Given the description of an element on the screen output the (x, y) to click on. 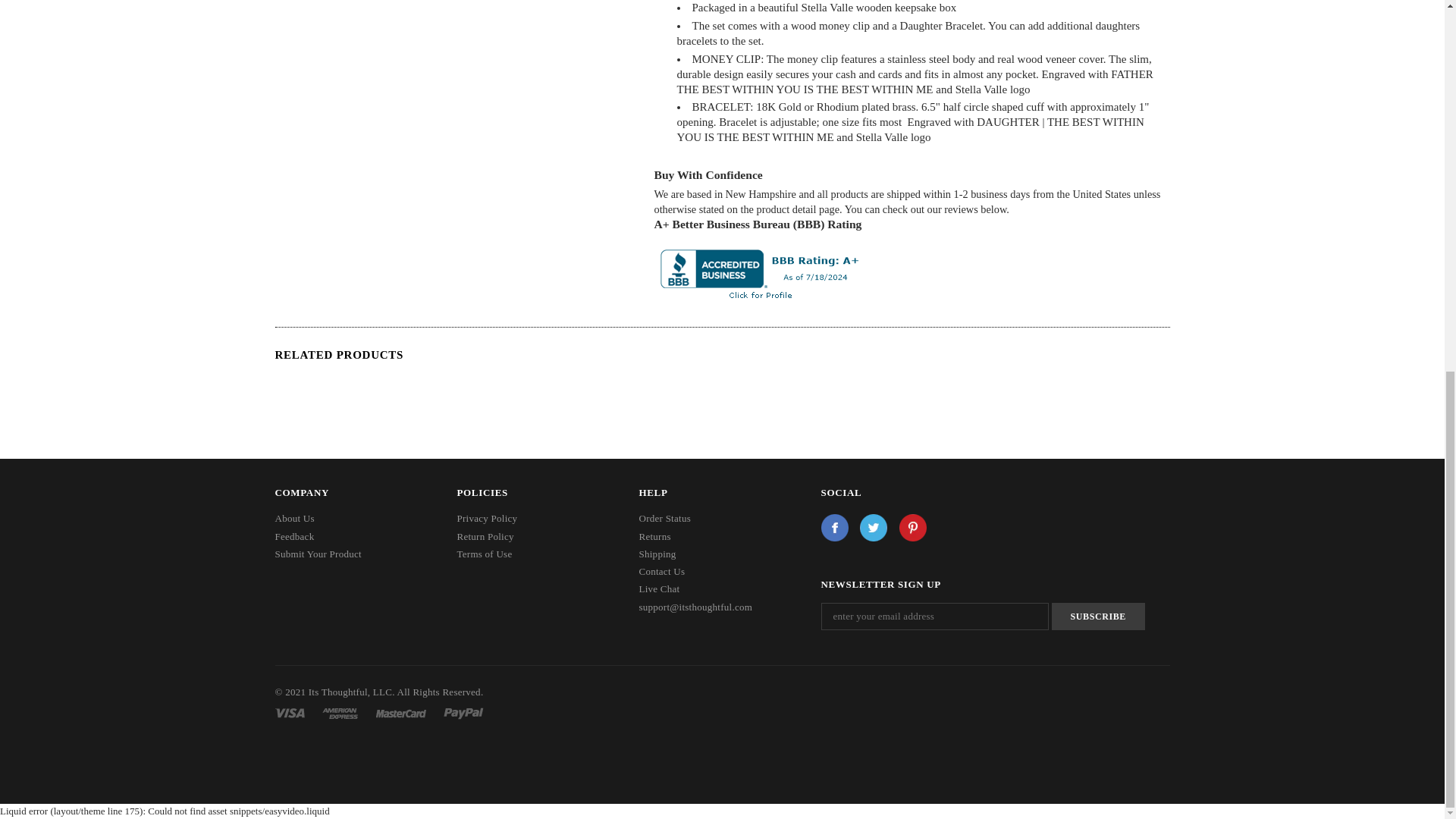
Subscribe (1097, 615)
